Given the description of an element on the screen output the (x, y) to click on. 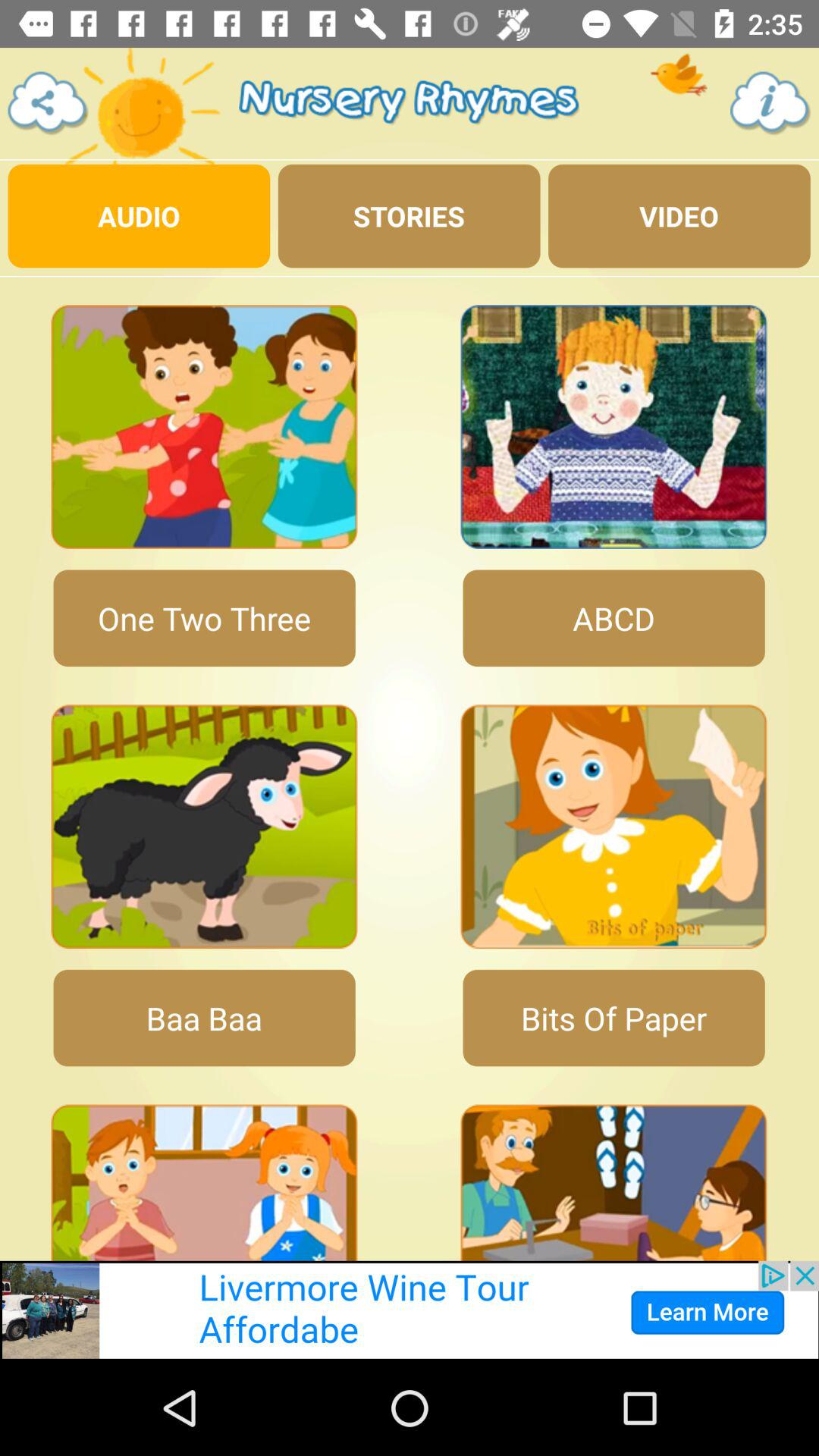
share (47, 103)
